Given the description of an element on the screen output the (x, y) to click on. 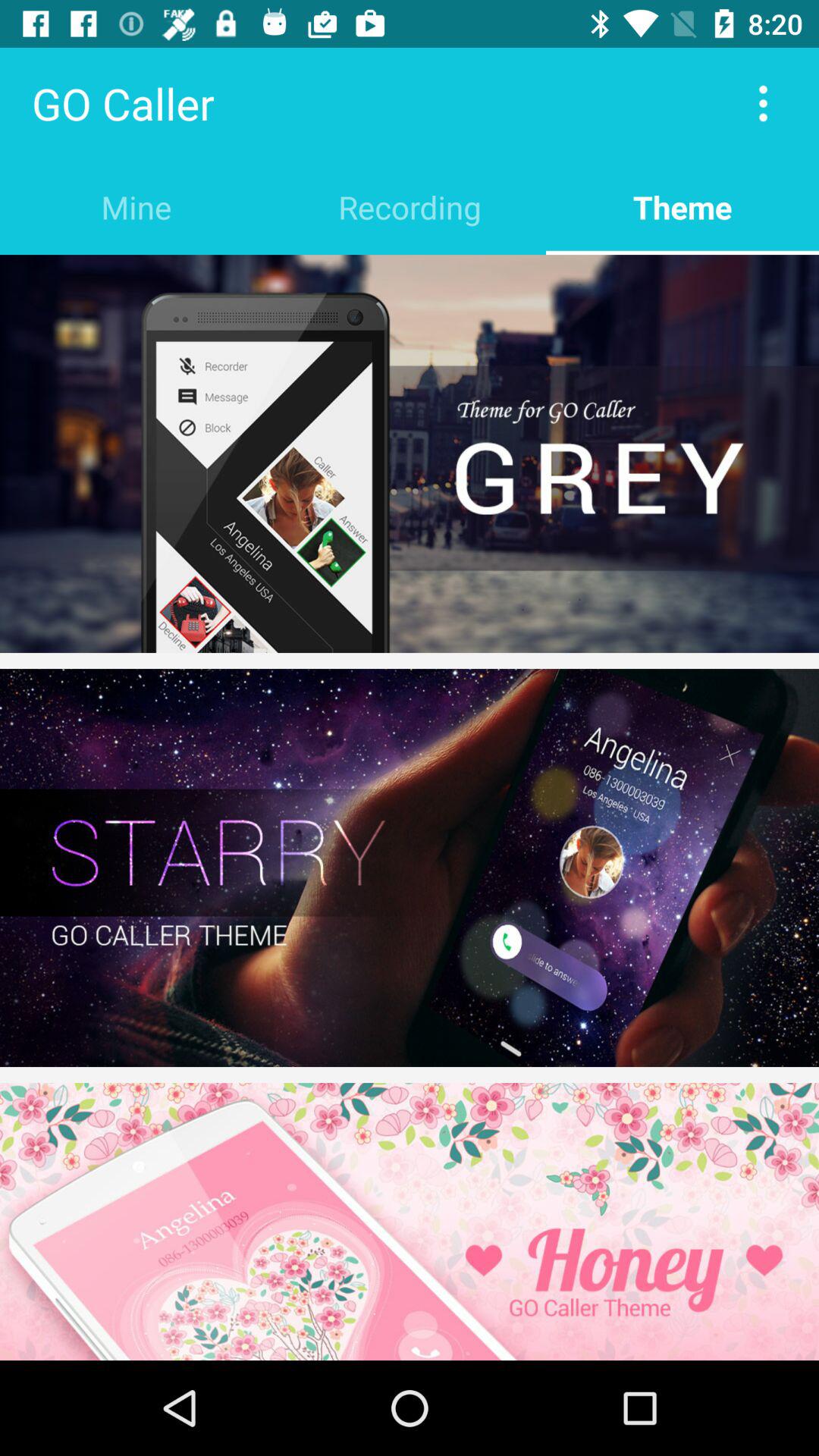
select item above the theme icon (763, 103)
